Given the description of an element on the screen output the (x, y) to click on. 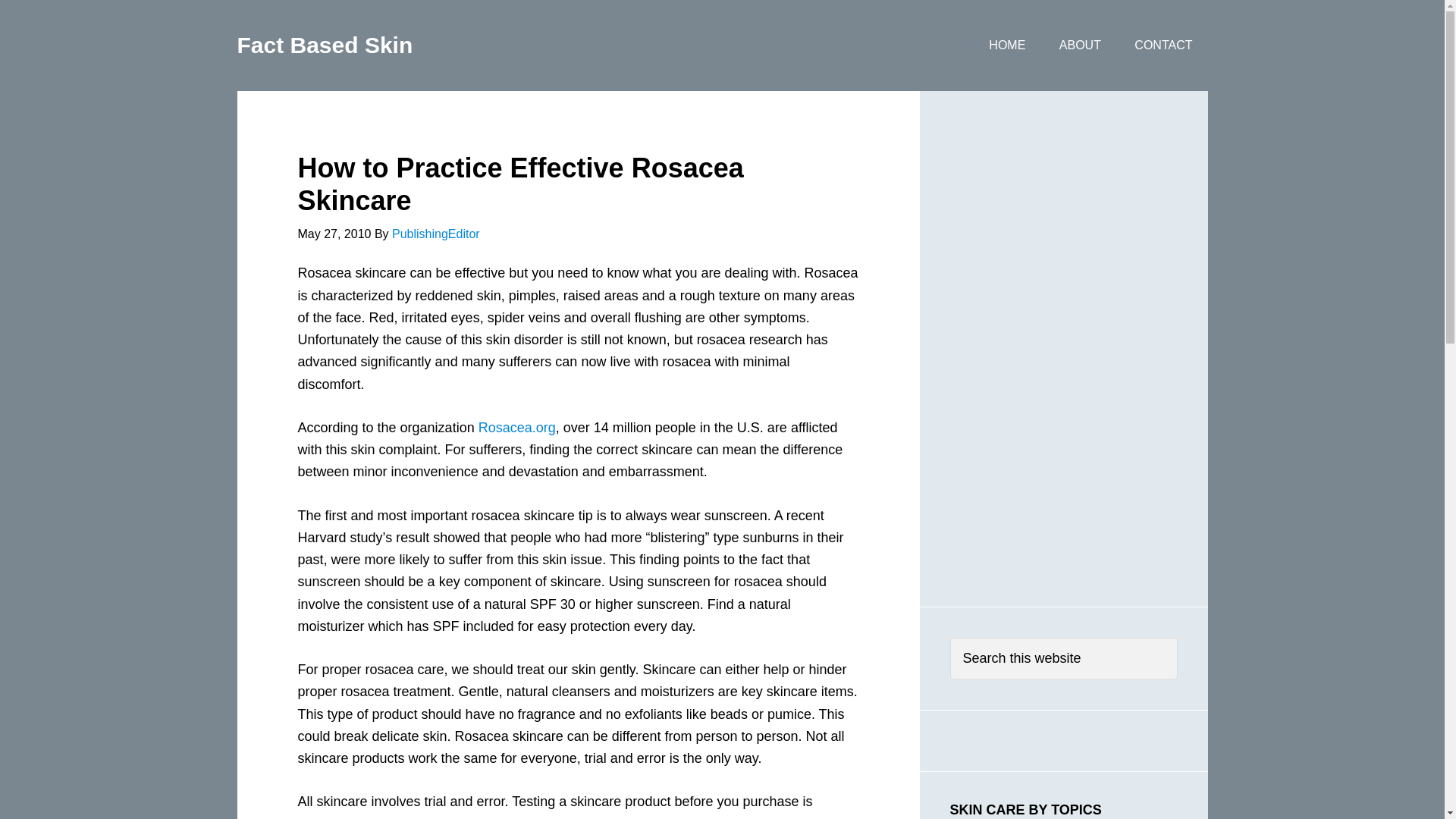
PublishingEditor (435, 233)
CONTACT (1163, 45)
Rosacea.org (517, 427)
How to Practice Effective Rosacea Skincare (519, 184)
Fact Based Skin (323, 44)
